Given the description of an element on the screen output the (x, y) to click on. 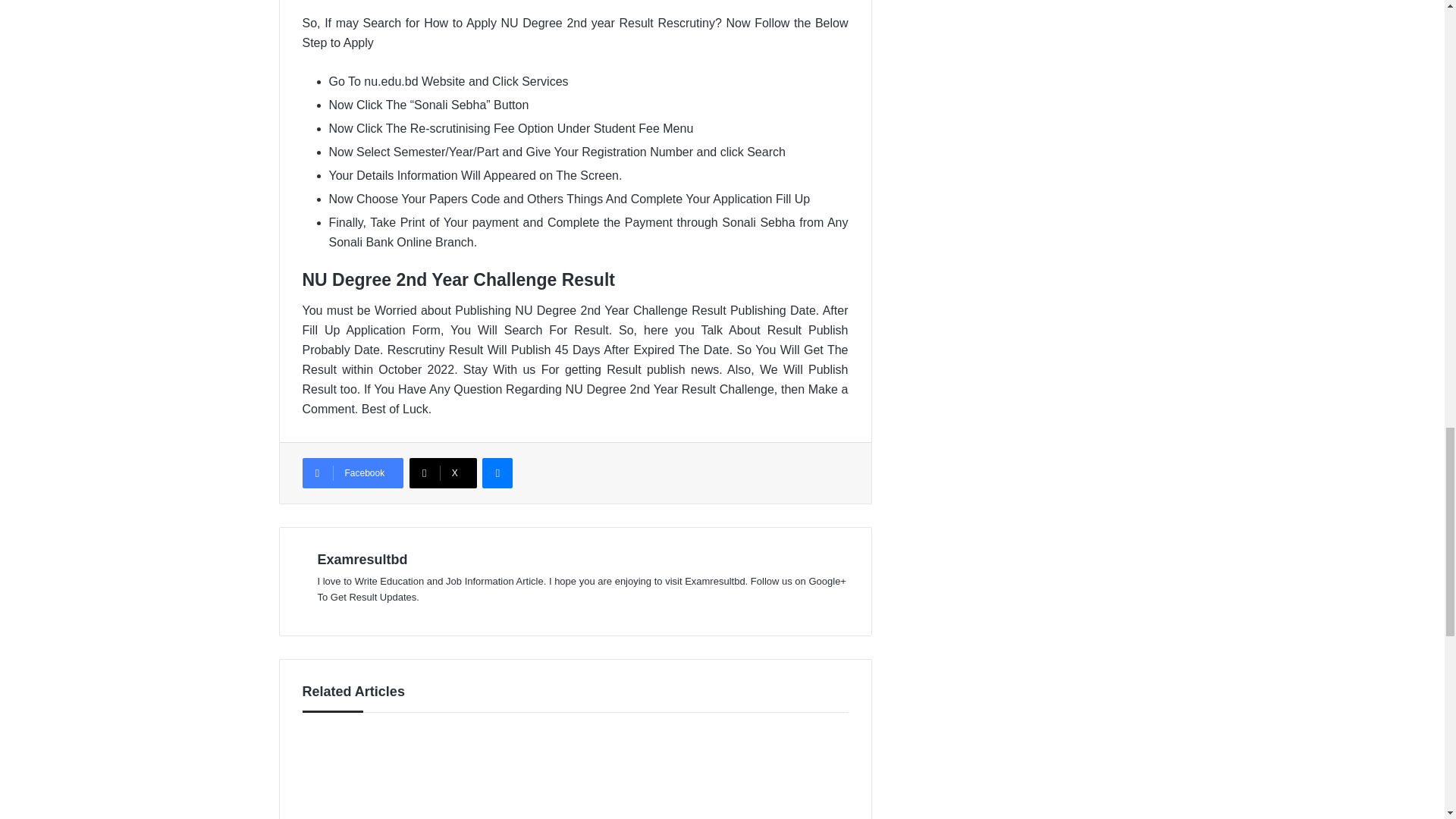
X (443, 472)
Examresultbd (362, 559)
Facebook (352, 472)
Messenger (496, 472)
Messenger (496, 472)
X (443, 472)
Facebook (352, 472)
